Given the description of an element on the screen output the (x, y) to click on. 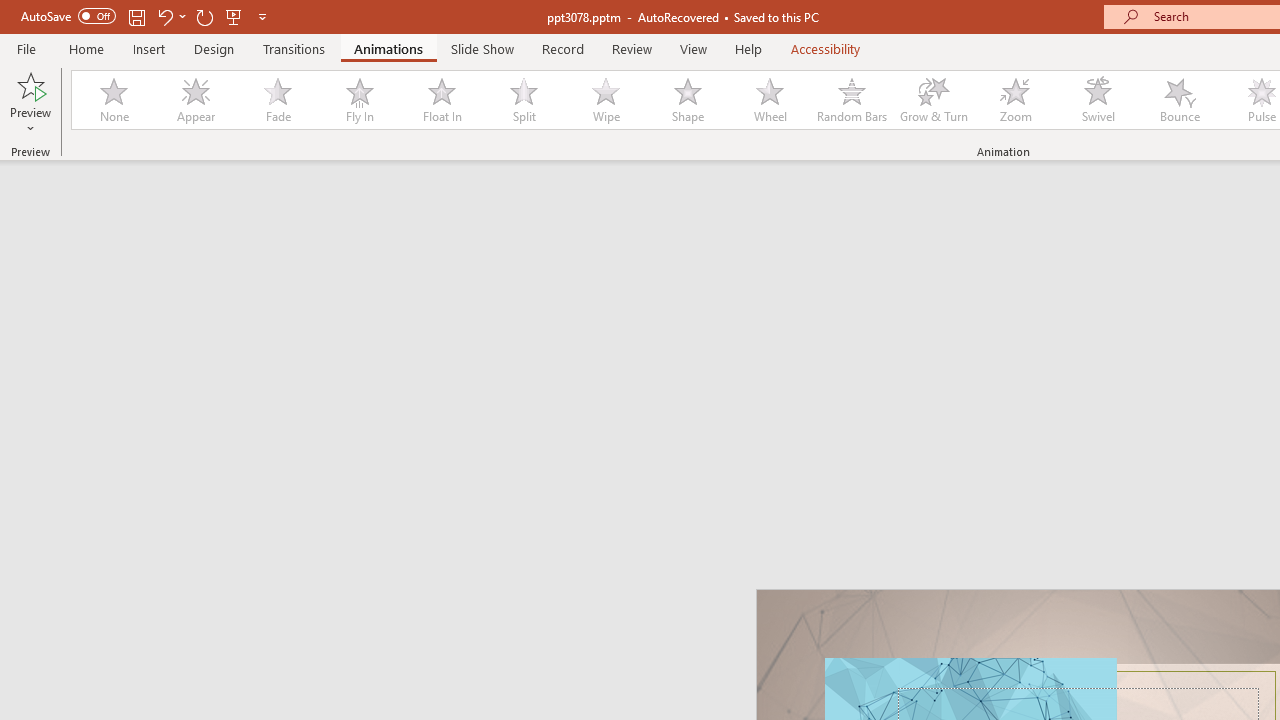
Split (523, 100)
Bounce (1180, 100)
Grow & Turn (934, 100)
